Given the description of an element on the screen output the (x, y) to click on. 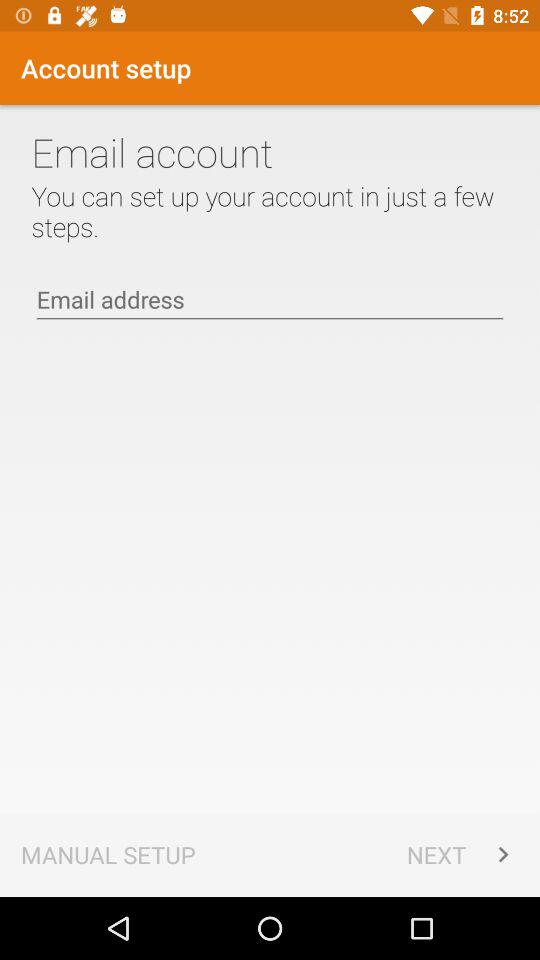
tap the app to the left of the next (108, 854)
